Given the description of an element on the screen output the (x, y) to click on. 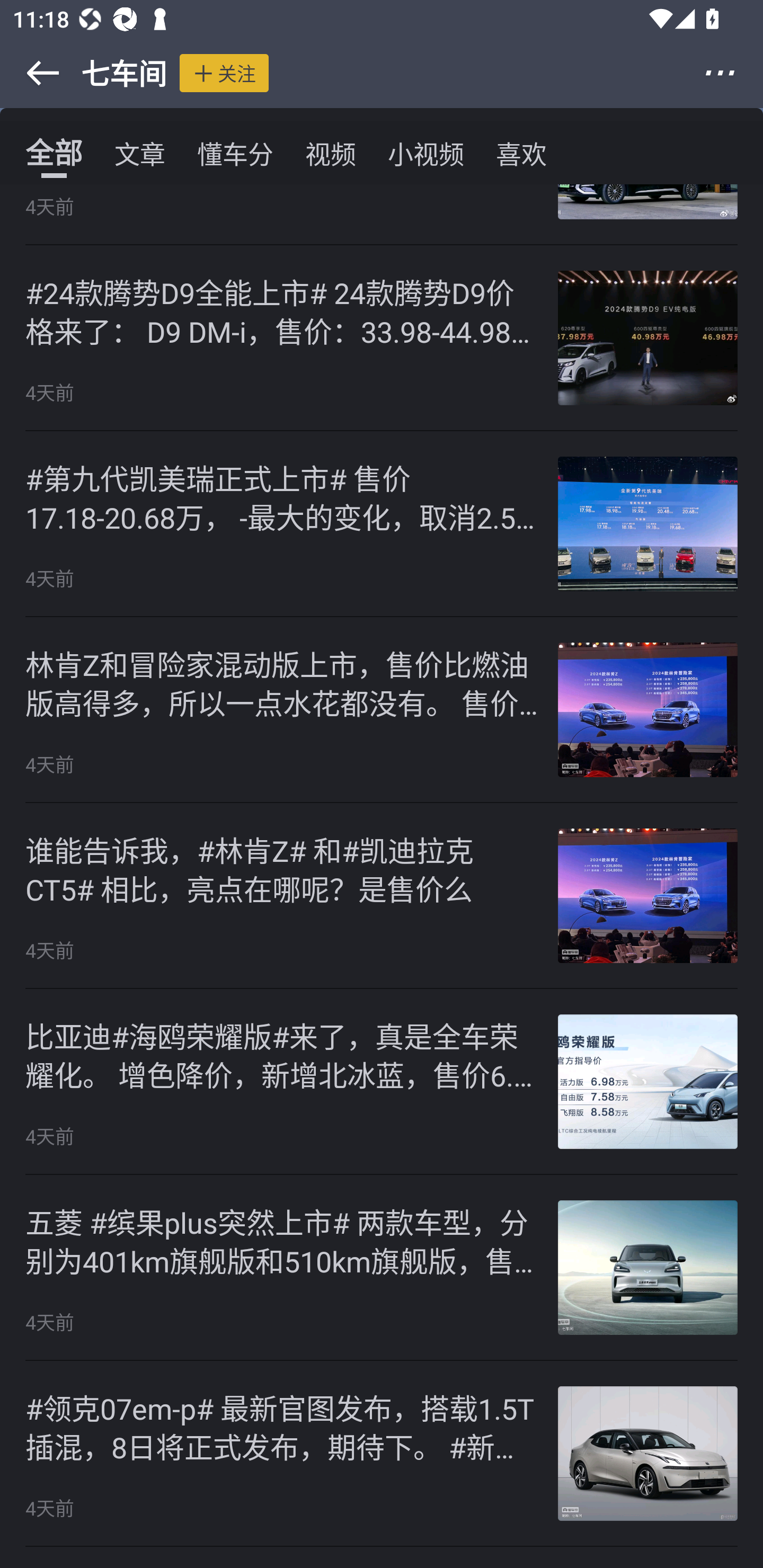
 (30, 72)
 (732, 72)
 关注 (223, 72)
全部 (53, 152)
文章 (139, 152)
懂车分 (234, 152)
视频 (330, 152)
小视频 (425, 152)
喜欢 (521, 152)
谁能告诉我，#林肯Z# 和#凯迪拉克CT5# 相比，亮点在哪呢？是售价么 4天前 (381, 895)
谁能告诉我，#林肯Z# 和#凯迪拉克CT5# 相比，亮点在哪呢？是售价么 (281, 868)
#领克07em-p# 最新官图发布，搭载1.5T插混，8日将正式发布，期待下。 #新车中转站# (281, 1426)
